Given the description of an element on the screen output the (x, y) to click on. 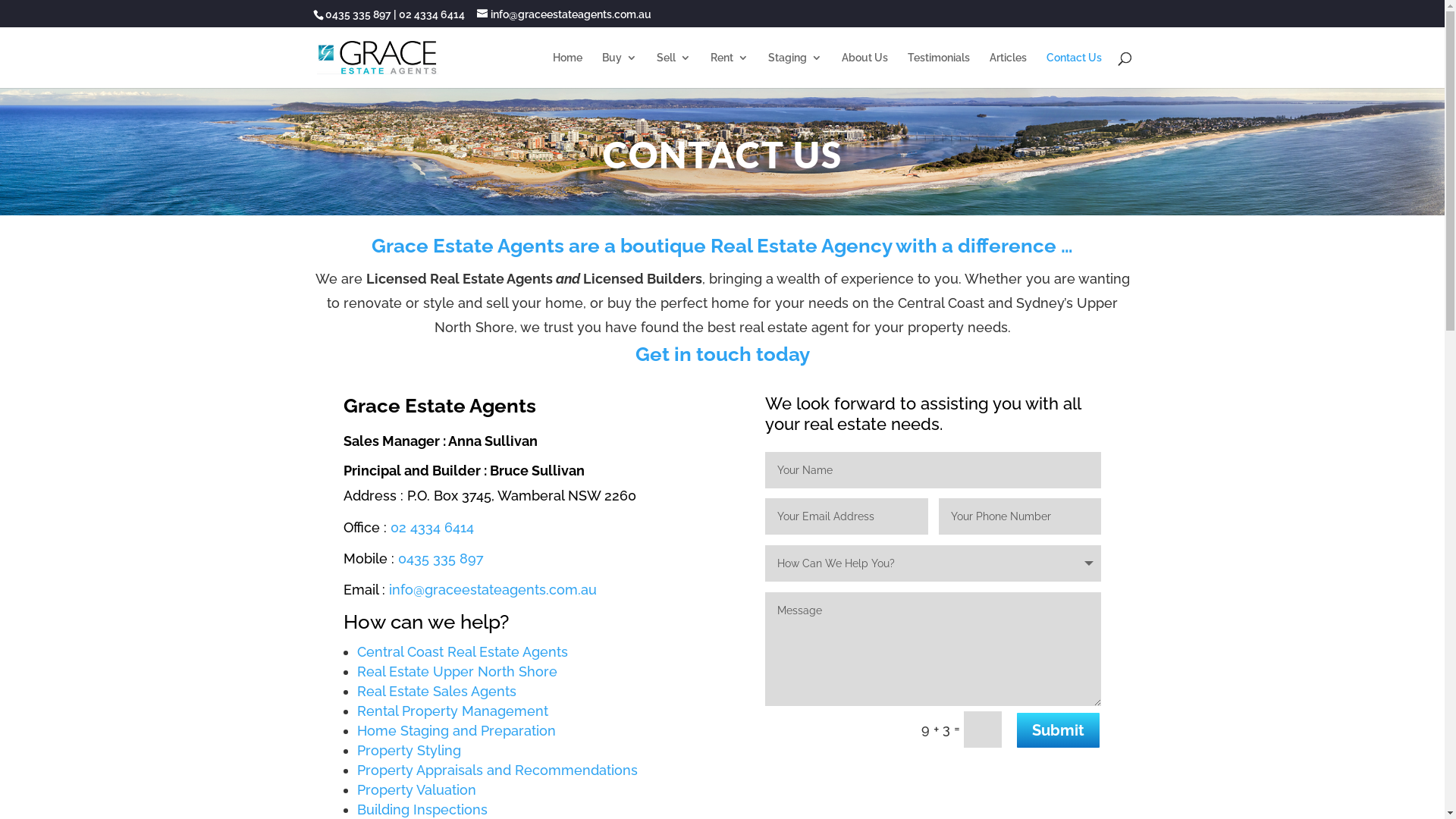
Central Coast Real Estate Agents Element type: text (461, 651)
info@graceestateagents.com.au Element type: text (492, 589)
Contact Us Element type: text (1073, 69)
0435 335 897 Element type: text (440, 558)
Testimonials Element type: text (937, 69)
Property Valuation Element type: text (415, 789)
Rent Element type: text (728, 69)
Articles Element type: text (1007, 69)
Rental Property Management Element type: text (451, 710)
Sell Element type: text (673, 69)
Real Estate Sales Agents Element type: text (435, 691)
About Us Element type: text (864, 69)
Buy Element type: text (619, 69)
Building Inspections Element type: text (421, 809)
info@graceestateagents.com.au Element type: text (563, 13)
Home Staging and Preparation Element type: text (455, 730)
Real Estate Upper North Shore Element type: text (456, 671)
Home Element type: text (566, 69)
Submit Element type: text (1058, 730)
Property Appraisals and Recommendations Element type: text (496, 770)
02 4334 6414 Element type: text (431, 527)
Staging Element type: text (794, 69)
0435 335 897 Element type: text (357, 13)
Property Styling Element type: text (408, 750)
02 4334 6414 Element type: text (431, 13)
